Given the description of an element on the screen output the (x, y) to click on. 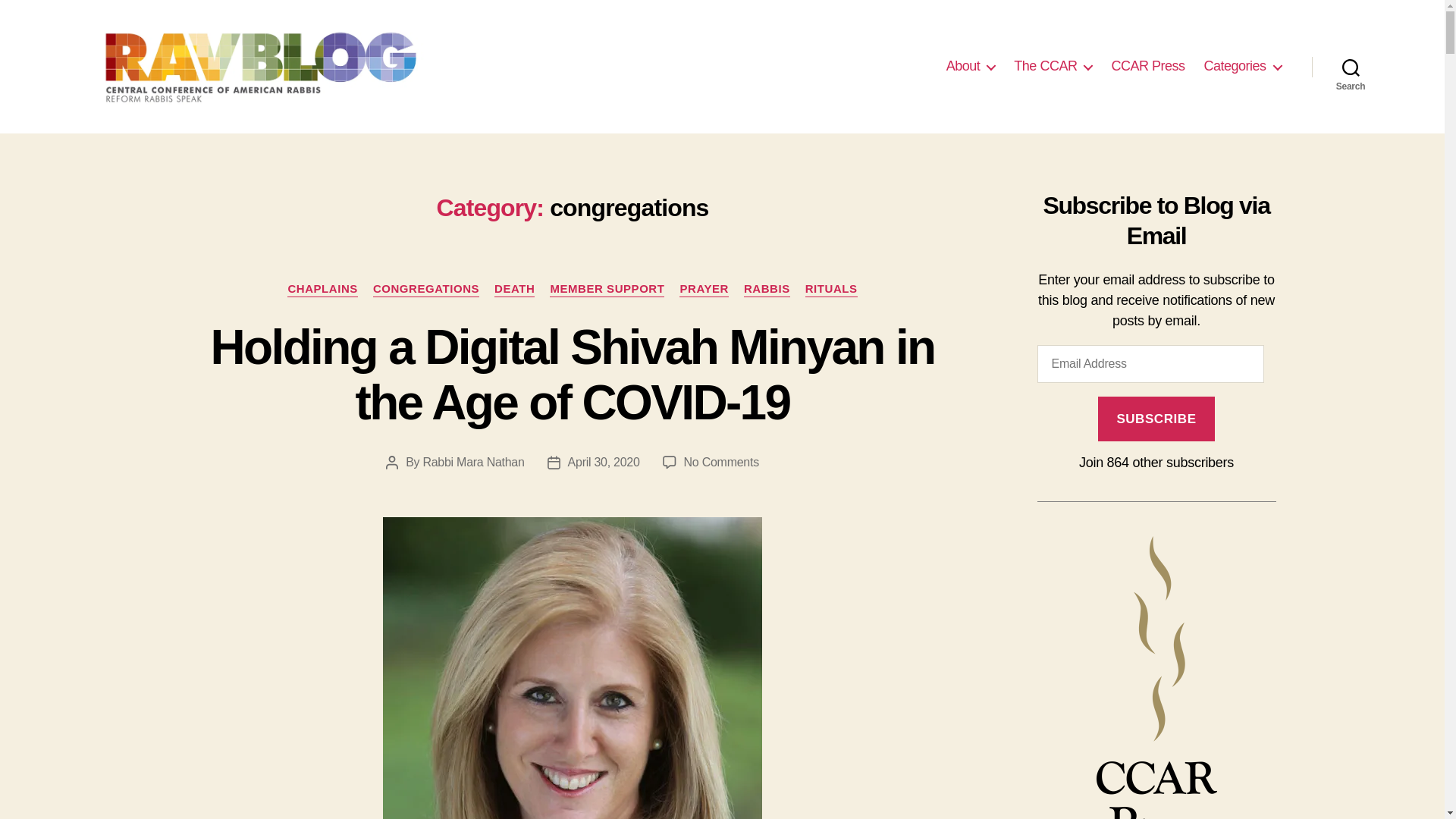
Categories (1242, 66)
CCAR Press (1147, 66)
Search (1350, 66)
The CCAR (1052, 66)
About (970, 66)
